Given the description of an element on the screen output the (x, y) to click on. 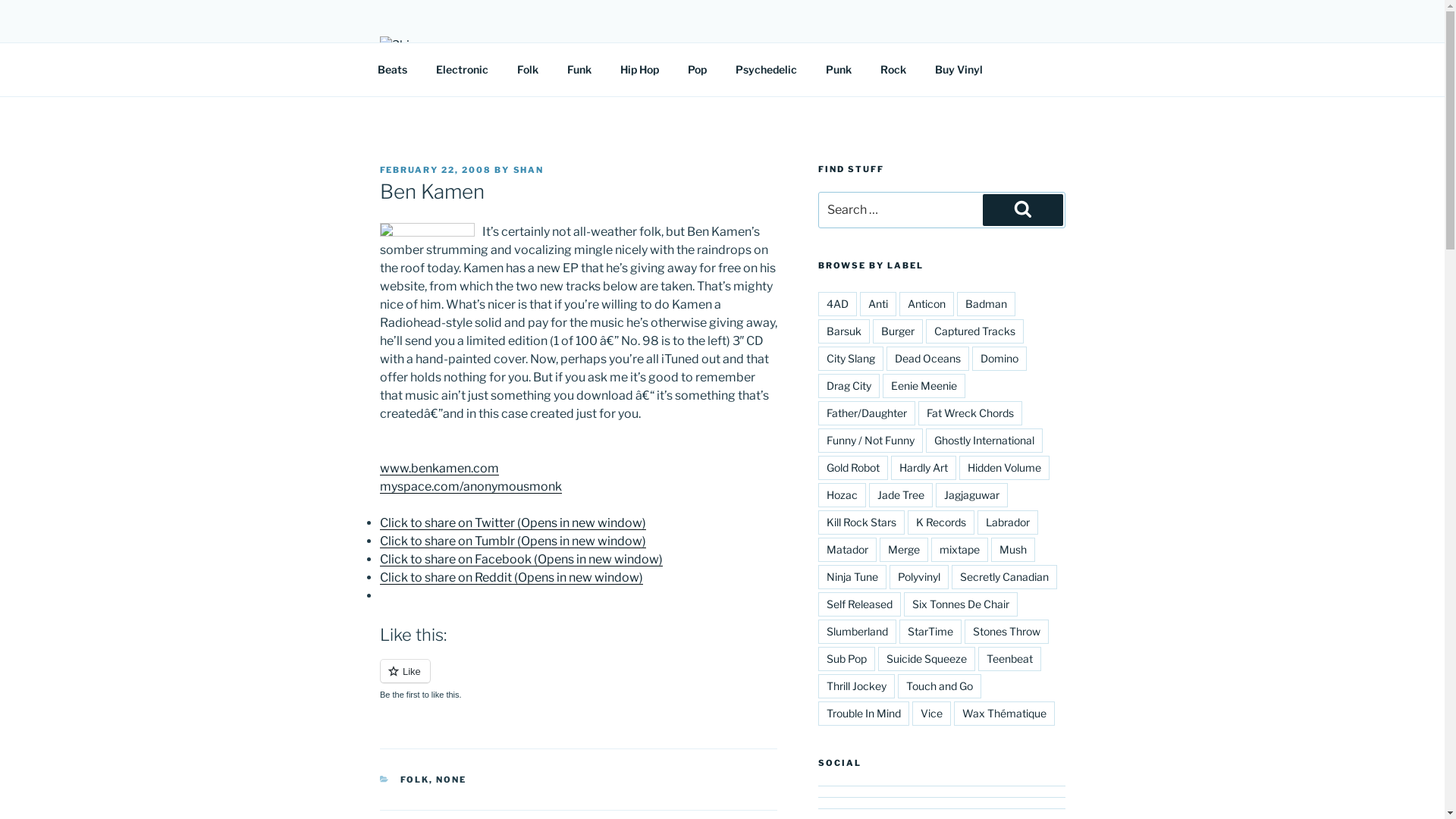
myspace.com/anonymousmonk Element type: text (470, 486)
Click to share on Facebook (Opens in new window) Element type: text (520, 559)
Hozac Element type: text (842, 495)
Punk Element type: text (838, 68)
Psychedelic Element type: text (765, 68)
Domino Element type: text (999, 358)
Click to share on Tumblr (Opens in new window) Element type: text (512, 540)
Father/Daughter Element type: text (866, 413)
Burger Element type: text (897, 331)
Hardly Art Element type: text (923, 467)
Teenbeat Element type: text (1009, 658)
FOLK Element type: text (414, 779)
Self Released Element type: text (859, 604)
3HIVE Element type: text (427, 77)
Funny / Not Funny Element type: text (870, 440)
Jagjaguwar Element type: text (971, 495)
Slumberland Element type: text (857, 631)
Hidden Volume Element type: text (1004, 467)
Rock Element type: text (893, 68)
Secretly Canadian Element type: text (1004, 576)
City Slang Element type: text (850, 358)
Mush Element type: text (1013, 549)
Suicide Squeeze Element type: text (926, 658)
Trouble In Mind Element type: text (863, 713)
Dead Oceans Element type: text (927, 358)
Ghostly International Element type: text (983, 440)
Anti Element type: text (877, 303)
Search Element type: text (1022, 209)
K Records Element type: text (940, 522)
www.benkamen.com Element type: text (438, 468)
Like or Reblog Element type: hover (577, 679)
Anticon Element type: text (926, 303)
Stones Throw Element type: text (1006, 631)
Kill Rock Stars Element type: text (861, 522)
Ninja Tune Element type: text (852, 576)
SHAN Element type: text (527, 169)
Beats Element type: text (392, 68)
Sub Pop Element type: text (846, 658)
Eenie Meenie Element type: text (923, 385)
mixtape Element type: text (959, 549)
NONE Element type: text (451, 779)
Hip Hop Element type: text (638, 68)
Click to share on Reddit (Opens in new window) Element type: text (510, 577)
FEBRUARY 22, 2008 Element type: text (435, 169)
Click to share on Twitter (Opens in new window) Element type: text (512, 522)
Polyvinyl Element type: text (918, 576)
Touch and Go Element type: text (939, 686)
Drag City Element type: text (848, 385)
Six Tonnes De Chair Element type: text (960, 604)
Captured Tracks Element type: text (974, 331)
Pop Element type: text (697, 68)
Gold Robot Element type: text (853, 467)
Funk Element type: text (578, 68)
Labrador Element type: text (1007, 522)
Merge Element type: text (903, 549)
StarTime Element type: text (930, 631)
Matador Element type: text (847, 549)
Electronic Element type: text (462, 68)
4AD Element type: text (837, 303)
Jade Tree Element type: text (900, 495)
Badman Element type: text (986, 303)
Thrill Jockey Element type: text (856, 686)
Buy Vinyl Element type: text (959, 68)
Barsuk Element type: text (843, 331)
Vice Element type: text (931, 713)
Fat Wreck Chords Element type: text (970, 413)
Folk Element type: text (527, 68)
